Given the description of an element on the screen output the (x, y) to click on. 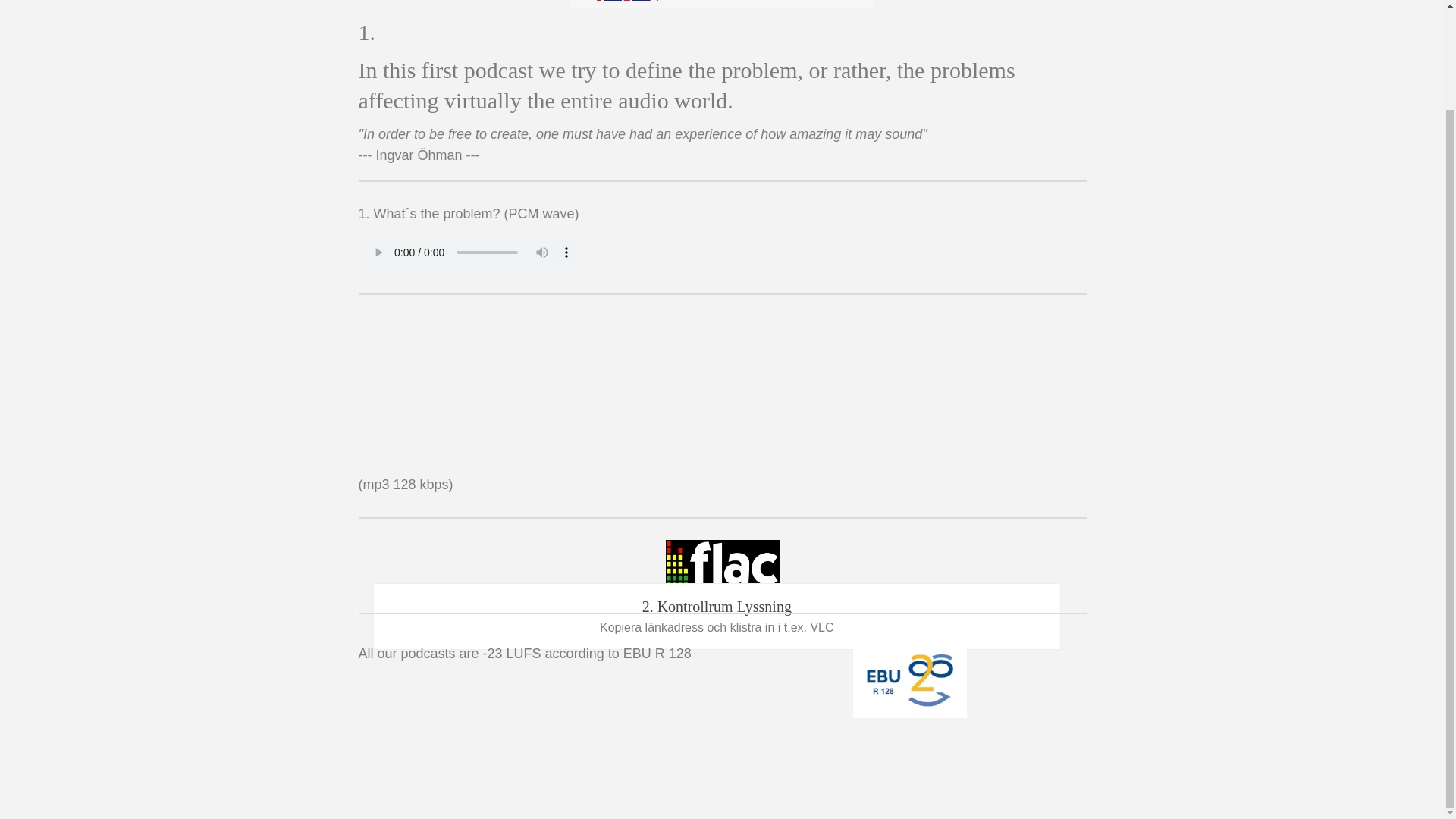
2. Kontrollrum Lyssning (722, 567)
2. Kontrollrum Lyssning (721, 567)
